Given the description of an element on the screen output the (x, y) to click on. 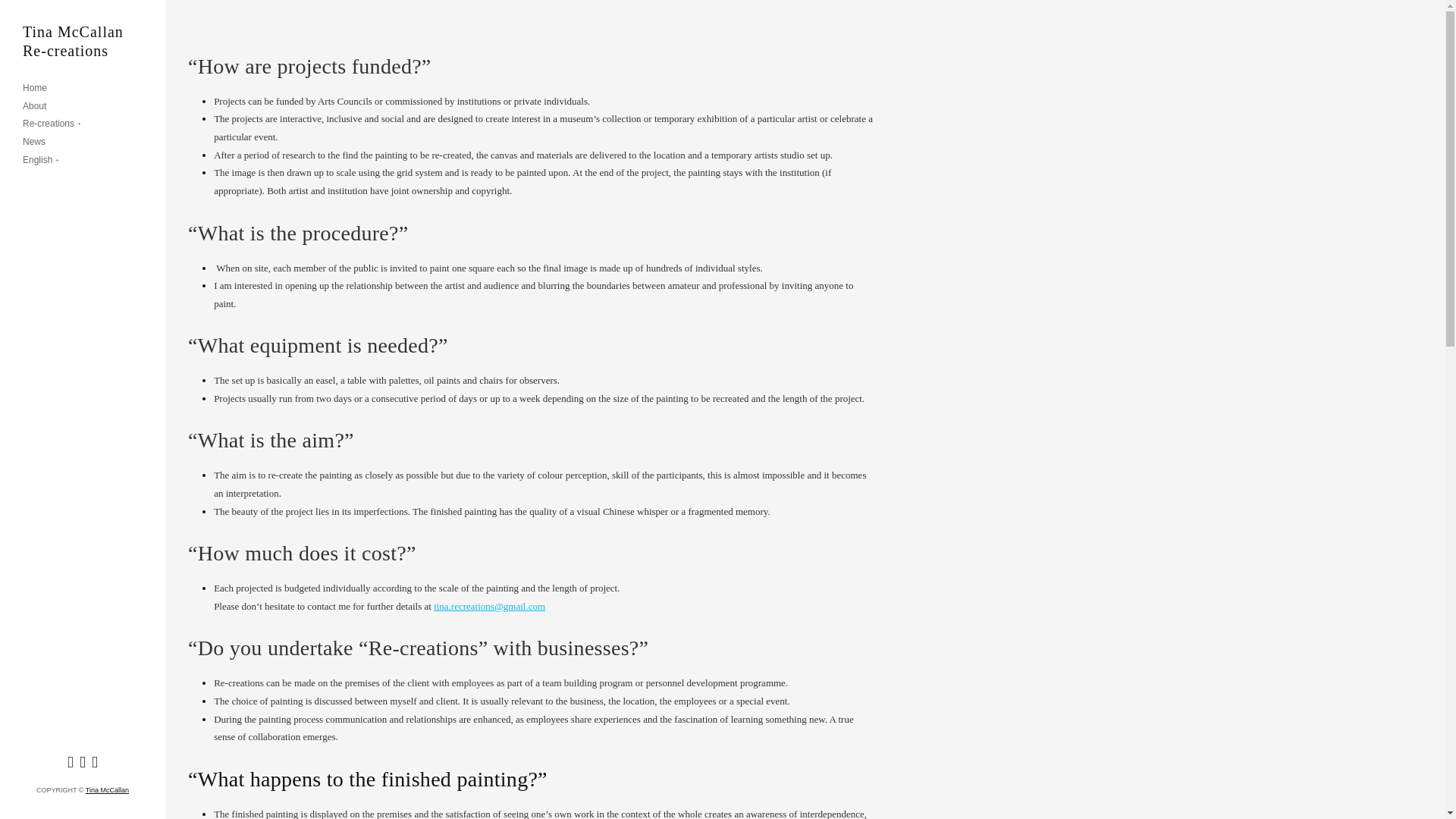
English (41, 160)
Home (34, 88)
Re-creations (52, 123)
About (34, 106)
Tina McCallan Re-creations (82, 40)
Tina McCallan (107, 789)
News (34, 142)
